Given the description of an element on the screen output the (x, y) to click on. 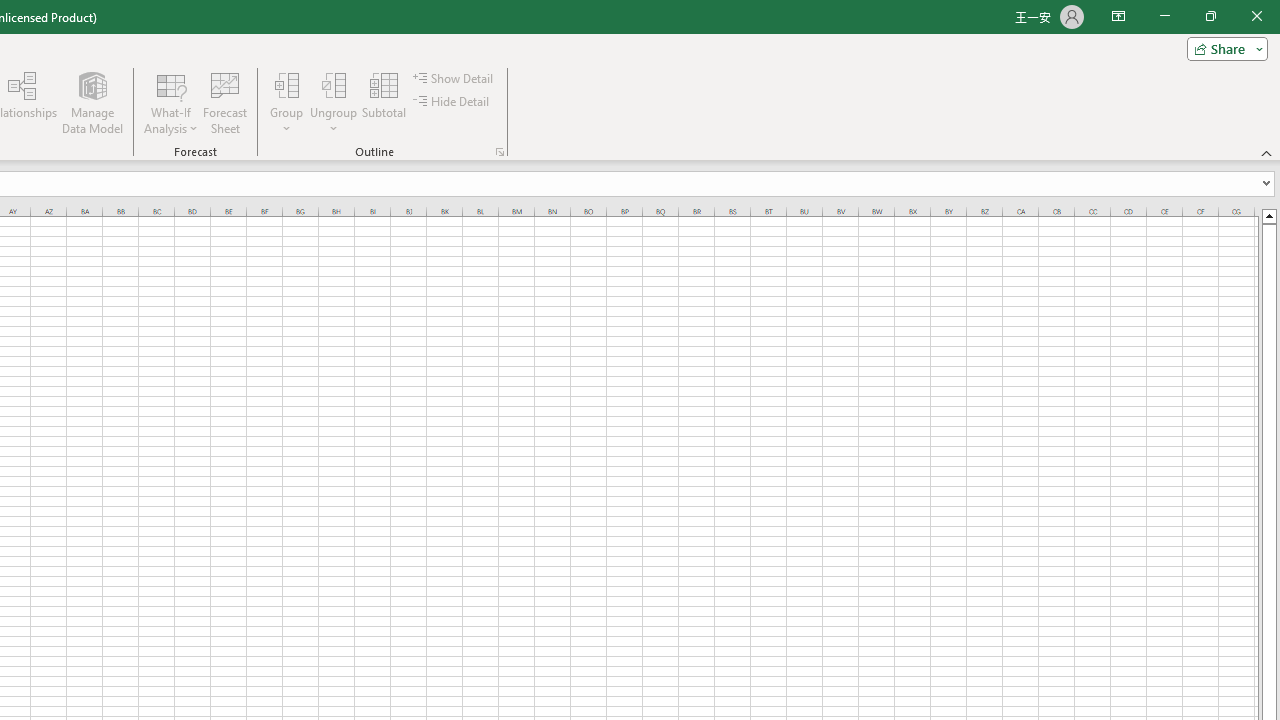
Hide Detail (452, 101)
Close (1256, 16)
Group... (287, 102)
What-If Analysis (171, 102)
